Given the description of an element on the screen output the (x, y) to click on. 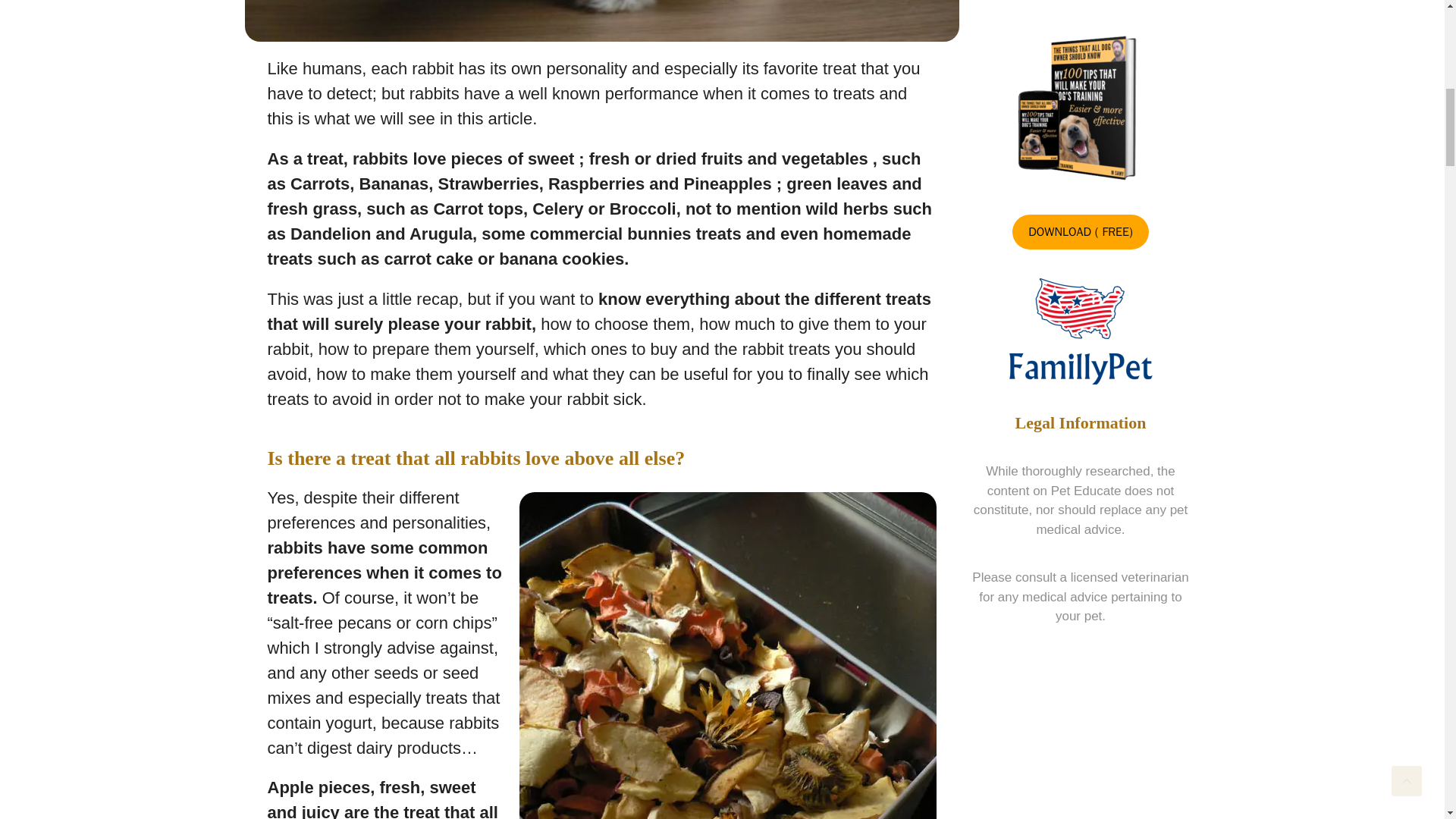
What are Rabbits Favorite Treats ? 1 (601, 20)
